Given the description of an element on the screen output the (x, y) to click on. 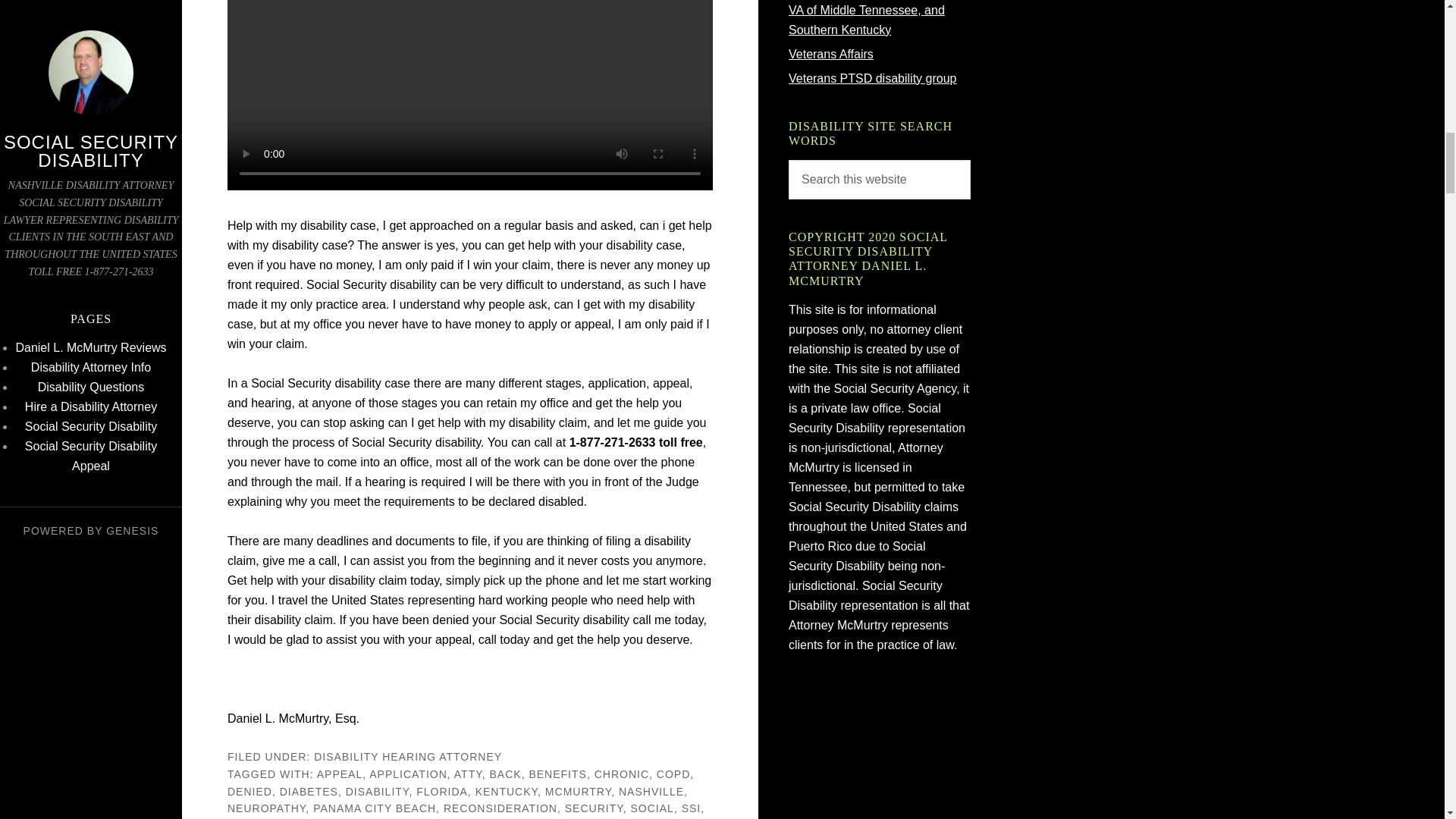
ATTY (467, 774)
DISABILITY HEARING ATTORNEY (408, 756)
Veterans help for PTSD (872, 78)
APPLICATION (407, 774)
APPEAL (339, 774)
